Given the description of an element on the screen output the (x, y) to click on. 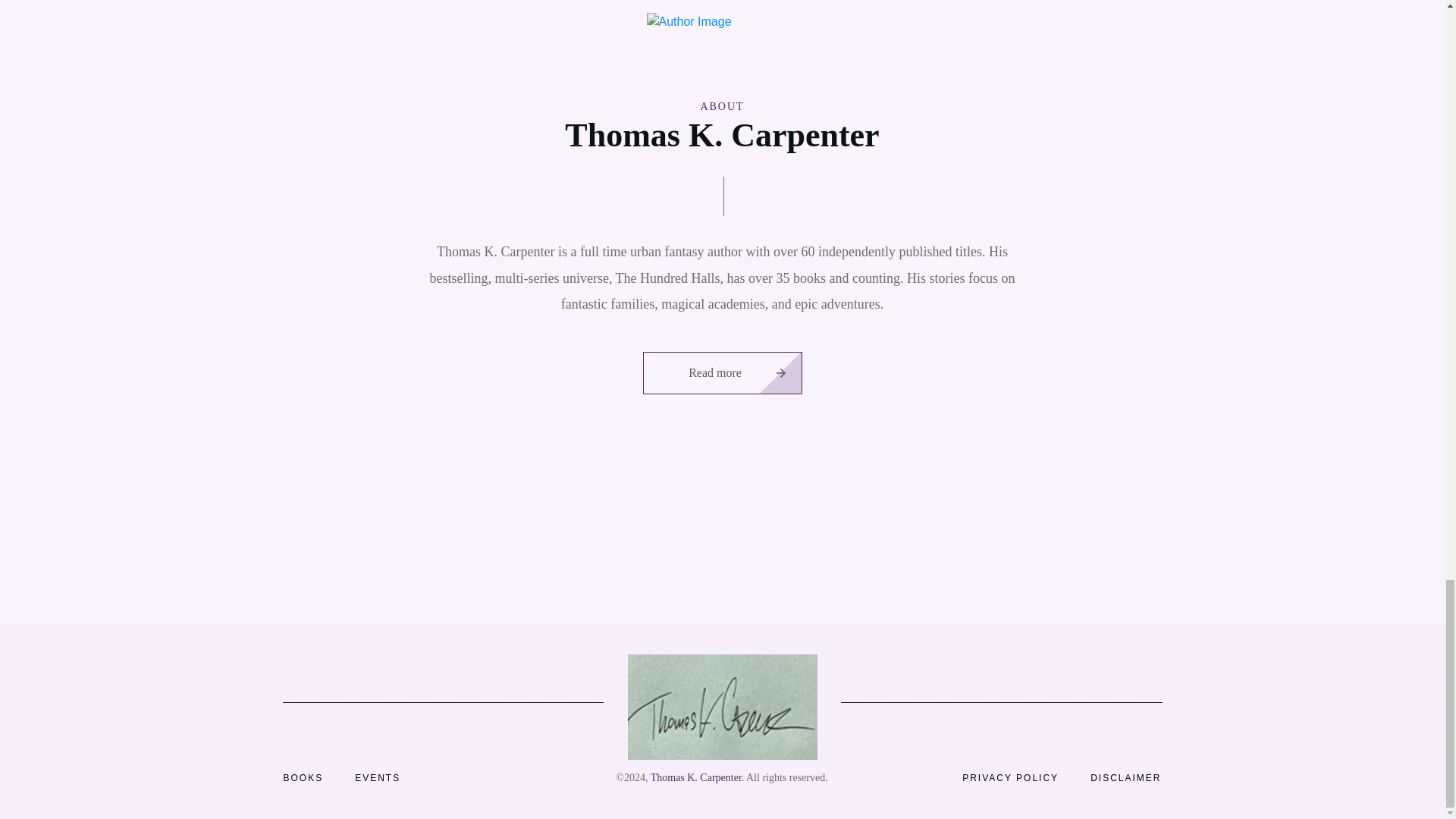
Read more (722, 372)
signature (721, 707)
BOOKS (303, 778)
Thomas K. Carpenter (695, 777)
